Given the description of an element on the screen output the (x, y) to click on. 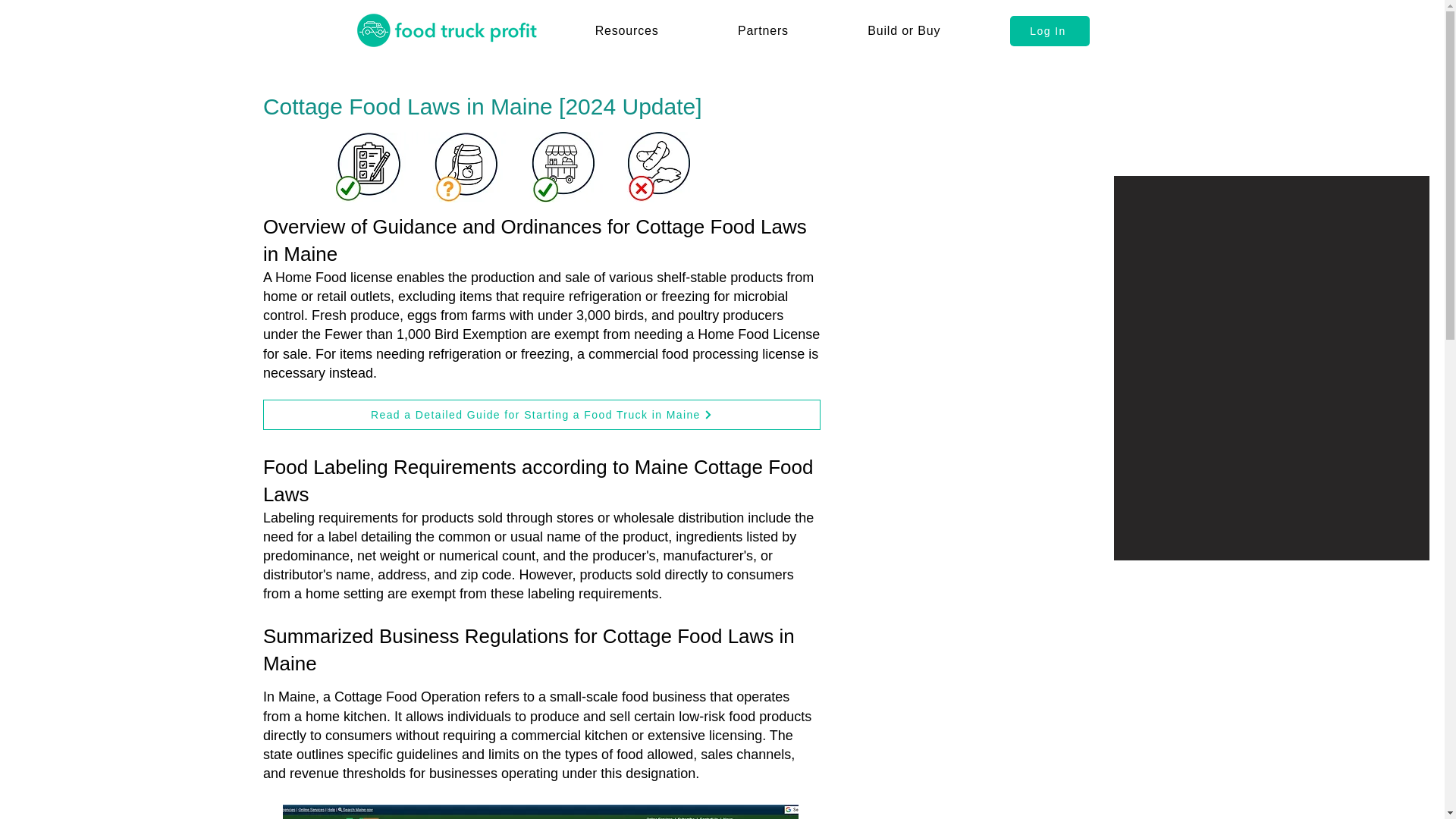
Log In (1049, 30)
Read a Detailed Guide for Starting a Food Truck in Maine (542, 414)
